Given the description of an element on the screen output the (x, y) to click on. 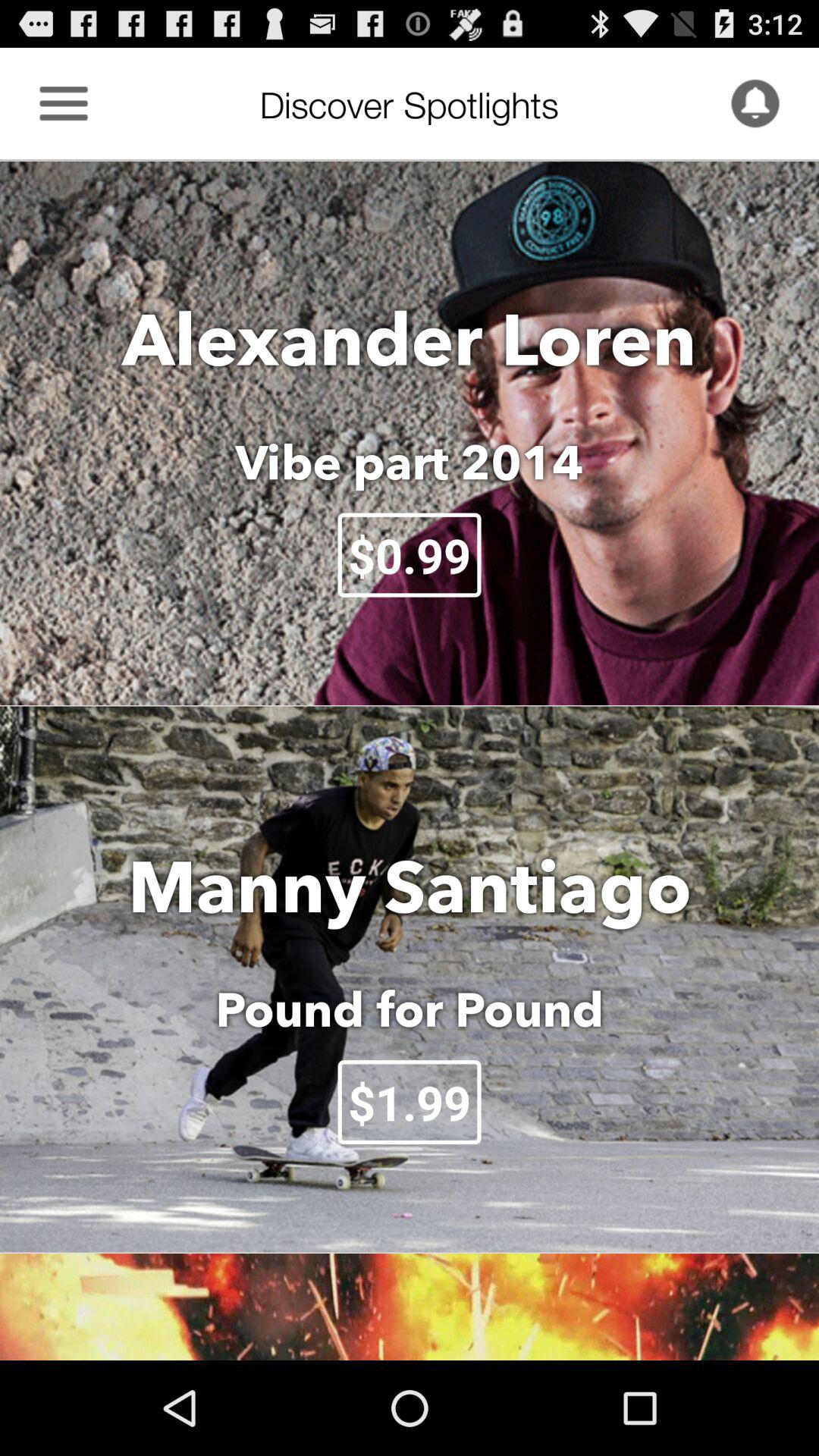
receive notifications of new posts (755, 103)
